Given the description of an element on the screen output the (x, y) to click on. 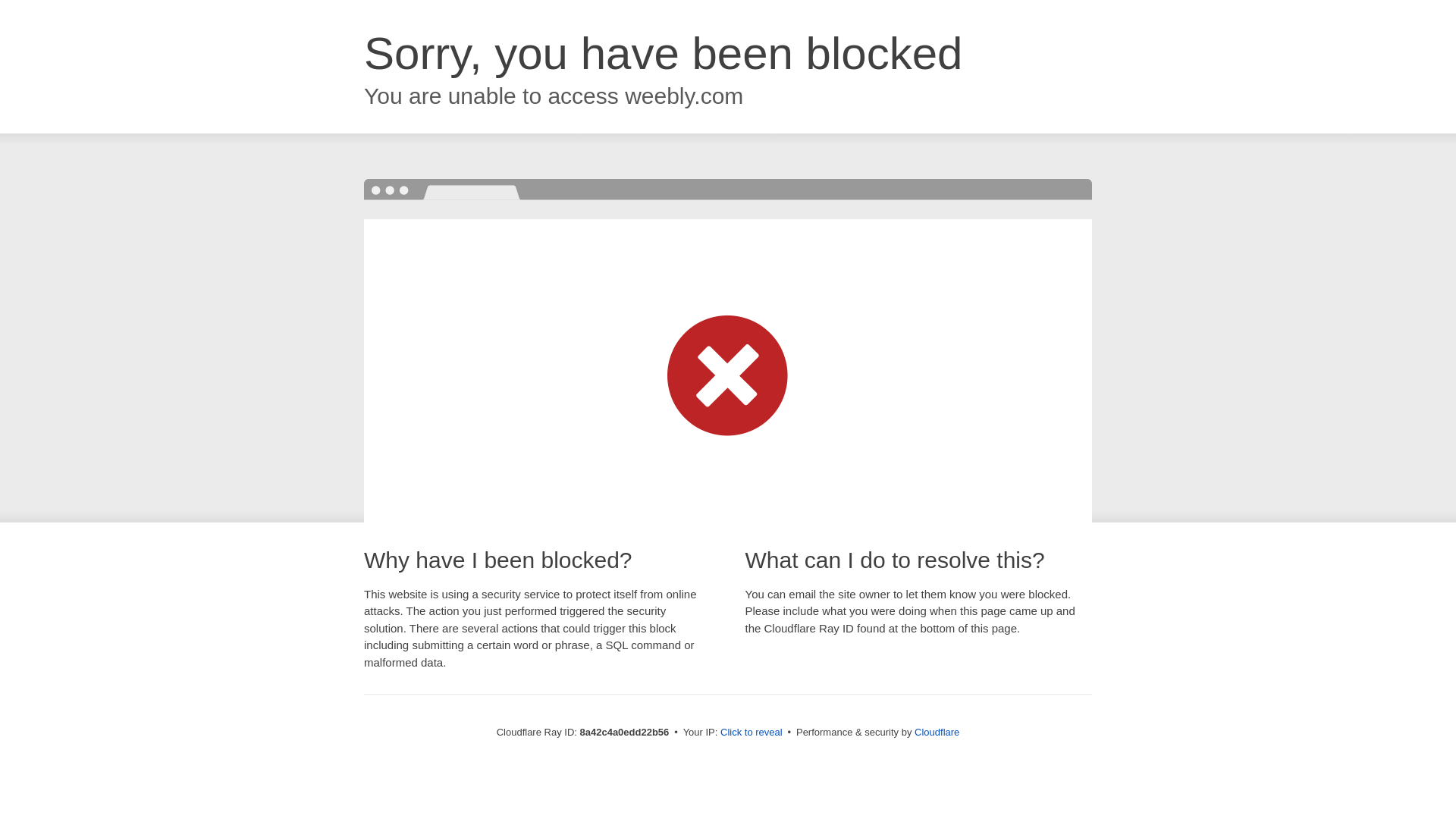
Cloudflare (936, 731)
Click to reveal (751, 732)
